Given the description of an element on the screen output the (x, y) to click on. 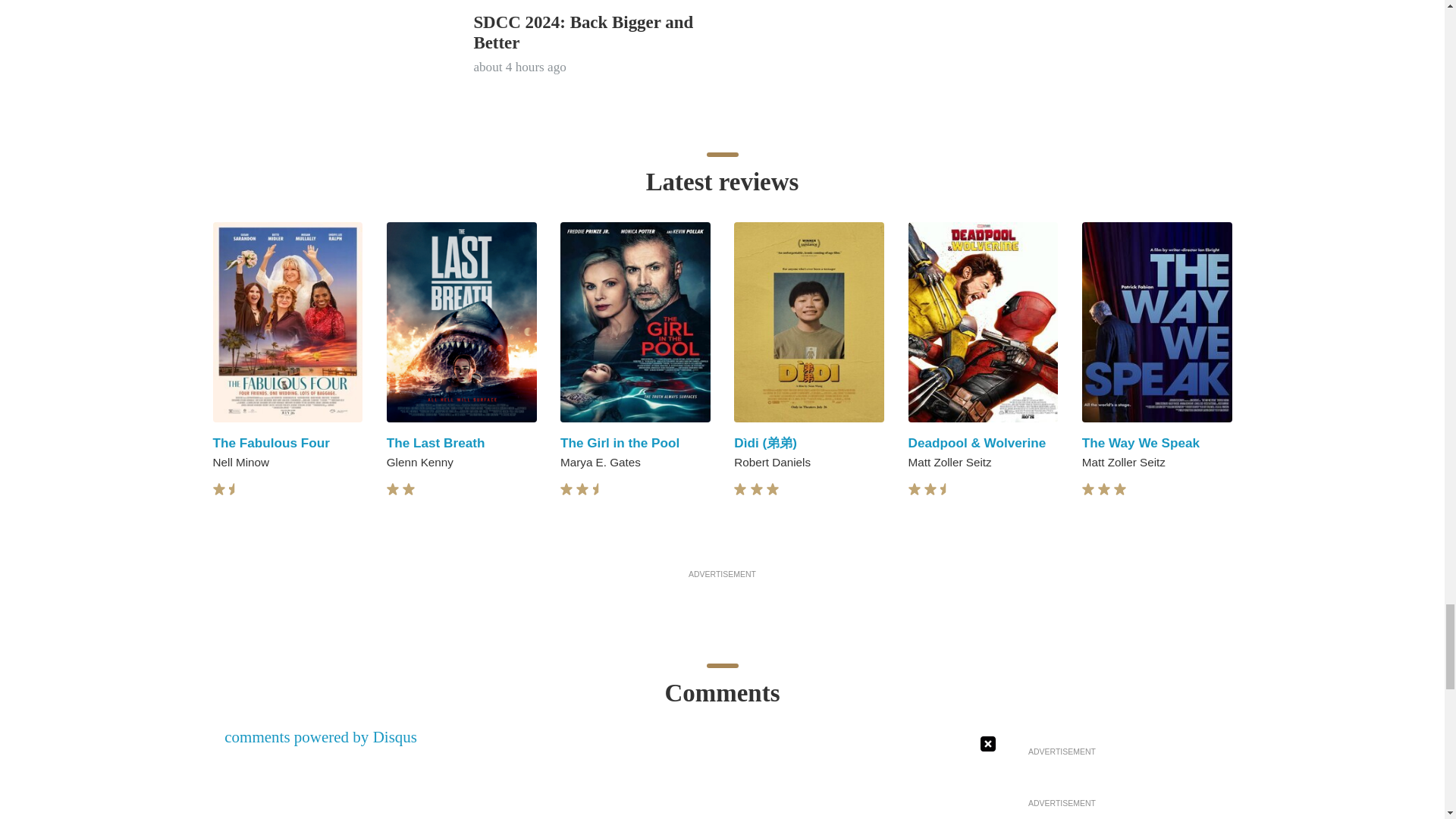
star-half (234, 489)
star-full (566, 489)
star-half (598, 489)
star-full (408, 489)
star-full (392, 489)
star-full (582, 489)
star-full (218, 489)
